Given the description of an element on the screen output the (x, y) to click on. 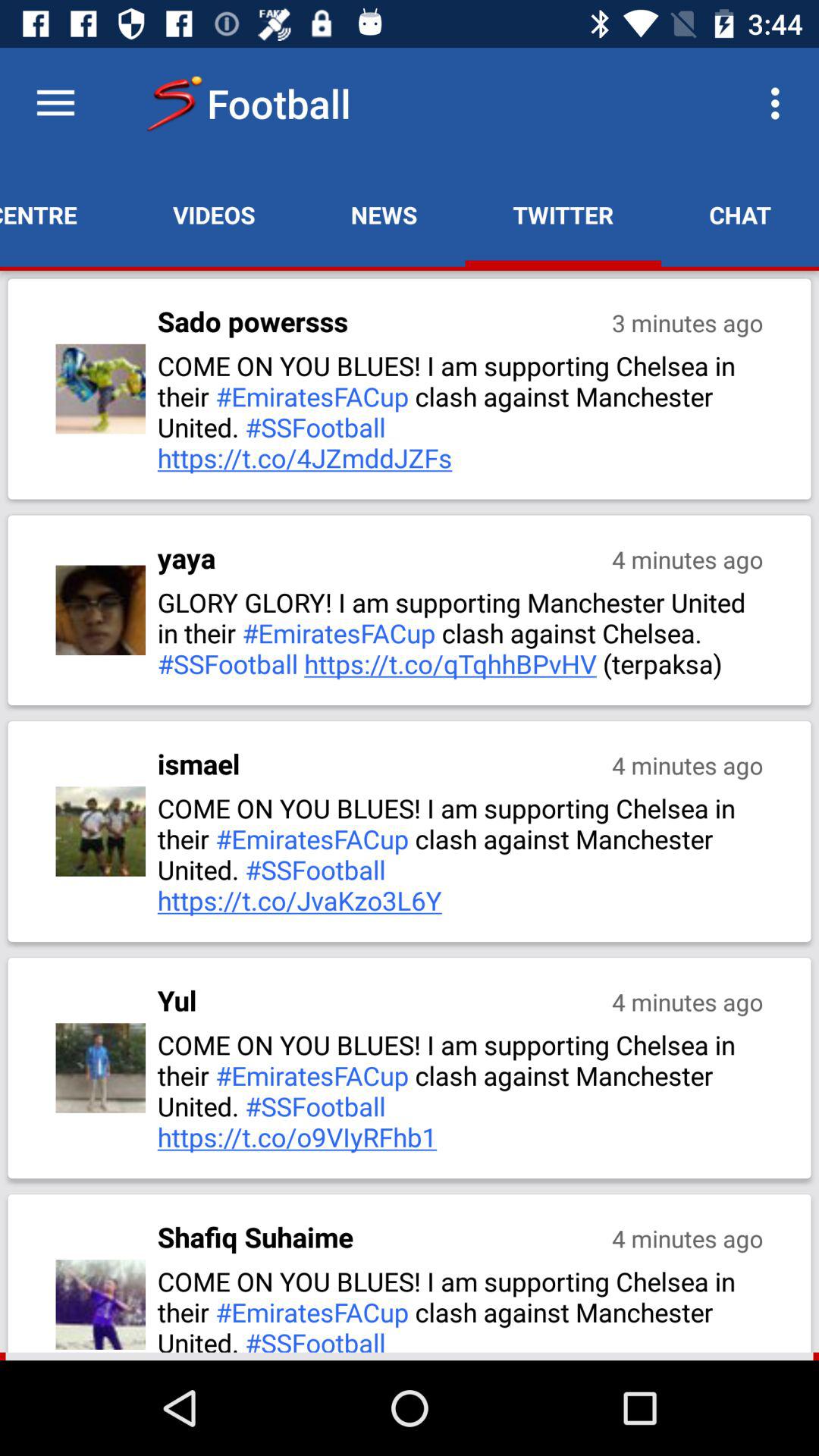
open the icon below football (384, 214)
